Given the description of an element on the screen output the (x, y) to click on. 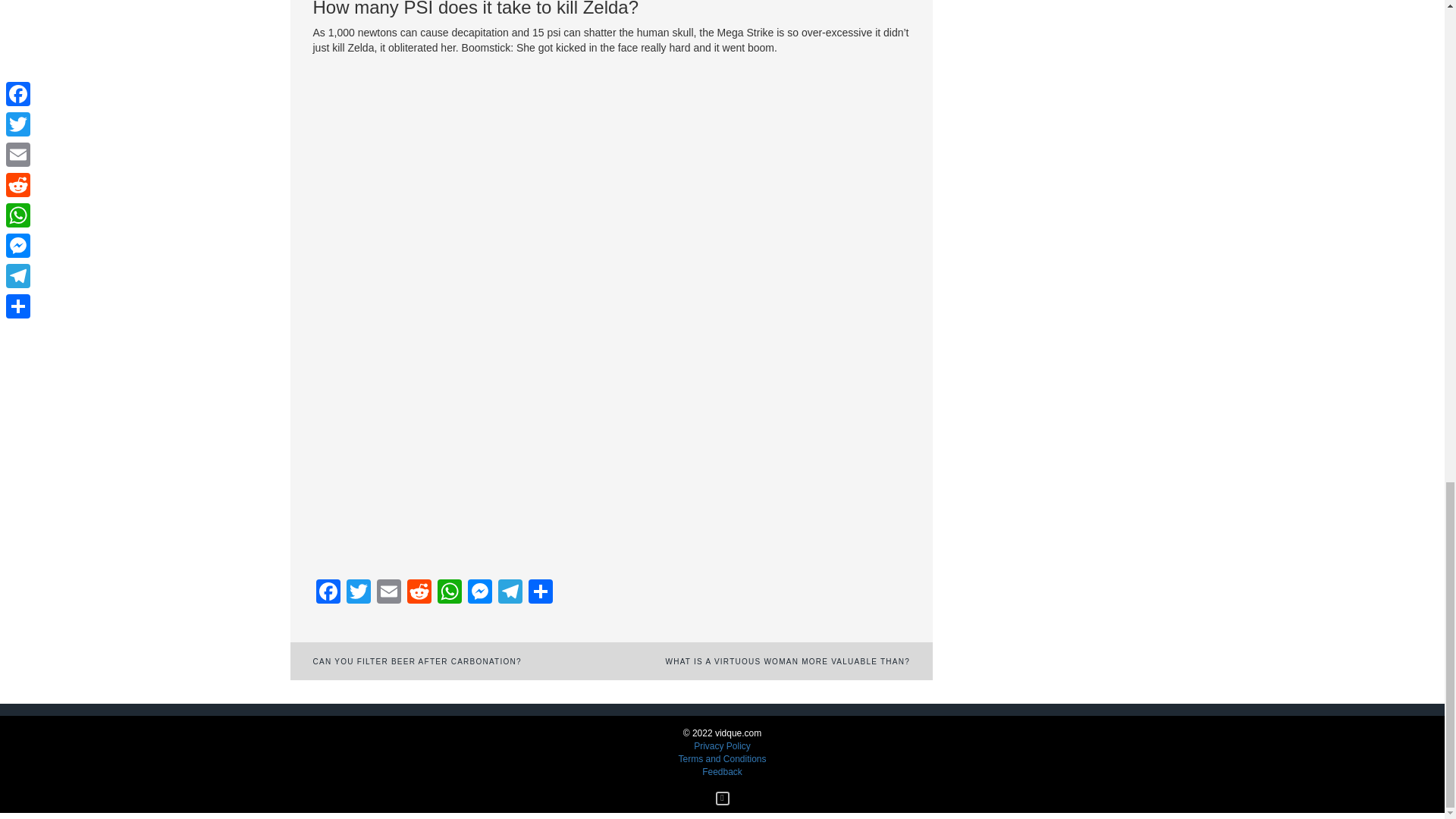
Messenger (479, 593)
WHAT IS A VIRTUOUS WOMAN MORE VALUABLE THAN? (787, 661)
Email (387, 593)
Email (387, 593)
Reddit (418, 593)
WhatsApp (448, 593)
Twitter (357, 593)
Facebook (327, 593)
Reddit (418, 593)
Twitter (357, 593)
Facebook (327, 593)
WhatsApp (448, 593)
Telegram (509, 593)
Telegram (509, 593)
Messenger (479, 593)
